Given the description of an element on the screen output the (x, y) to click on. 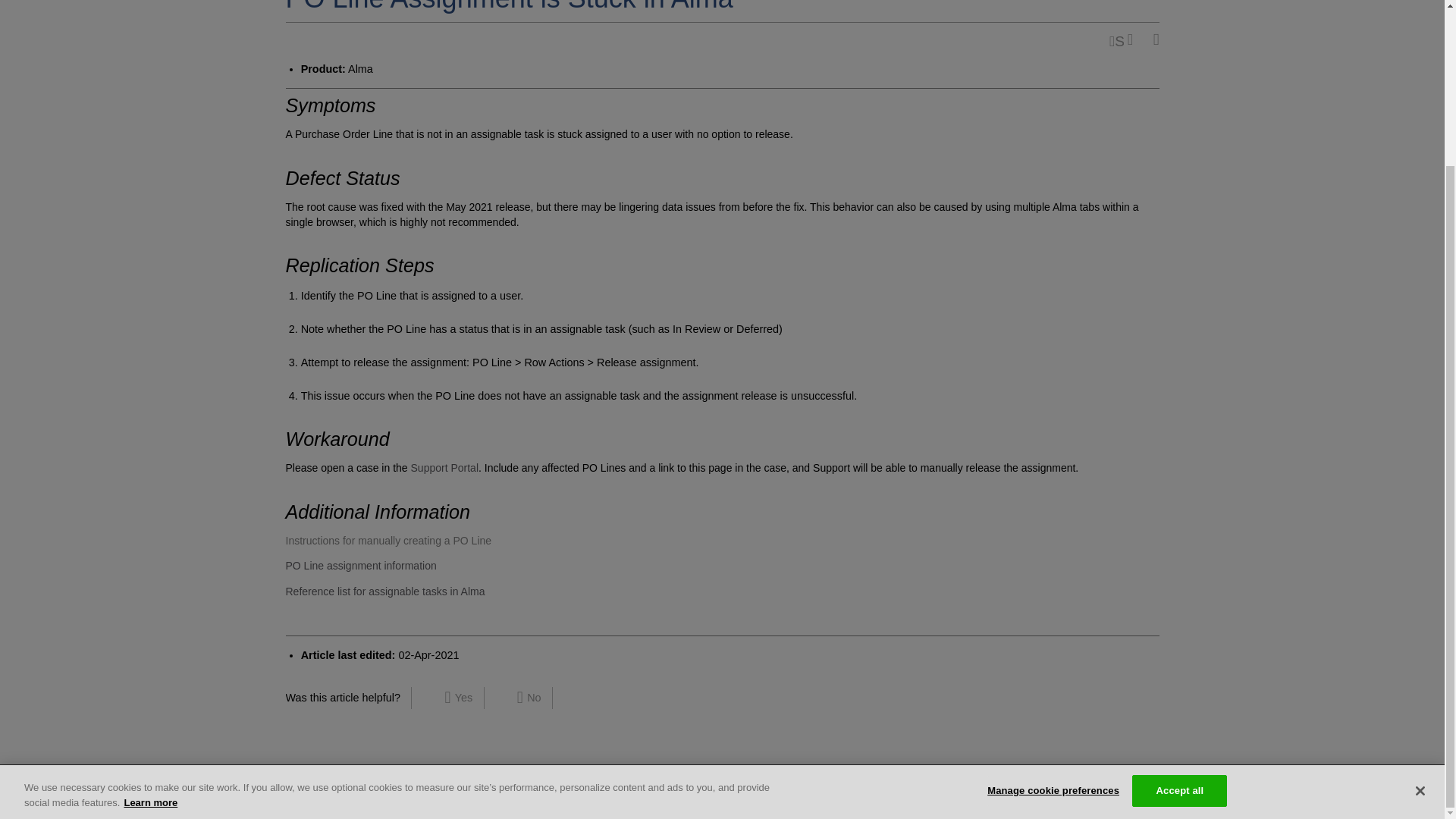
Share page by email (1116, 39)
PO Line assignment information (360, 565)
Instructions for manually creating a PO Line (388, 540)
Share page by email (1116, 39)
Save as PDF (1133, 39)
Support Portal (444, 467)
Export page as a PDF (1133, 39)
Reference list for assignable tasks in Alma (384, 591)
